Given the description of an element on the screen output the (x, y) to click on. 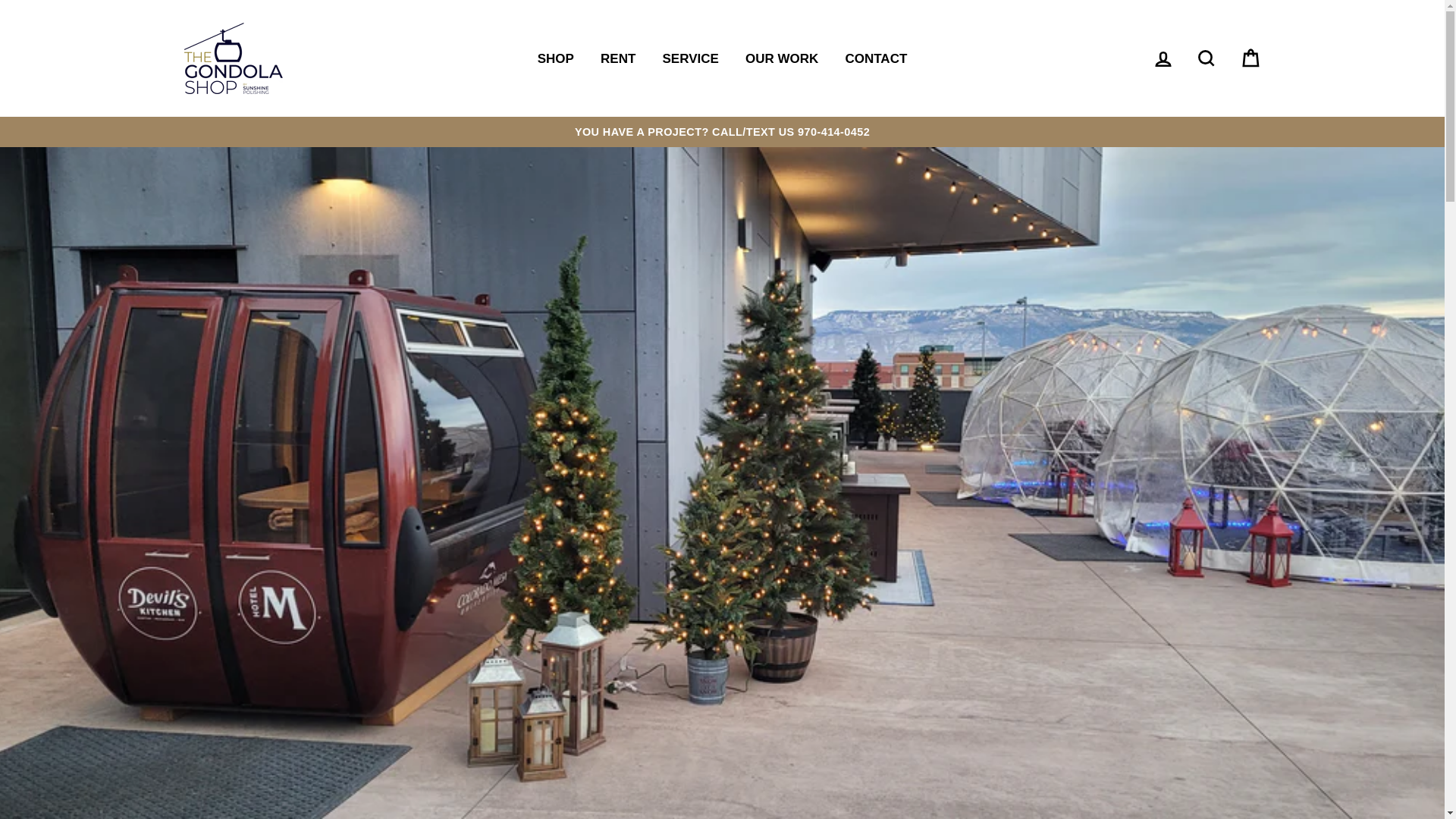
RENT (617, 57)
OUR WORK (781, 57)
CART (1249, 58)
SERVICE (689, 57)
SHOP (555, 57)
CONTACT (875, 57)
